Given the description of an element on the screen output the (x, y) to click on. 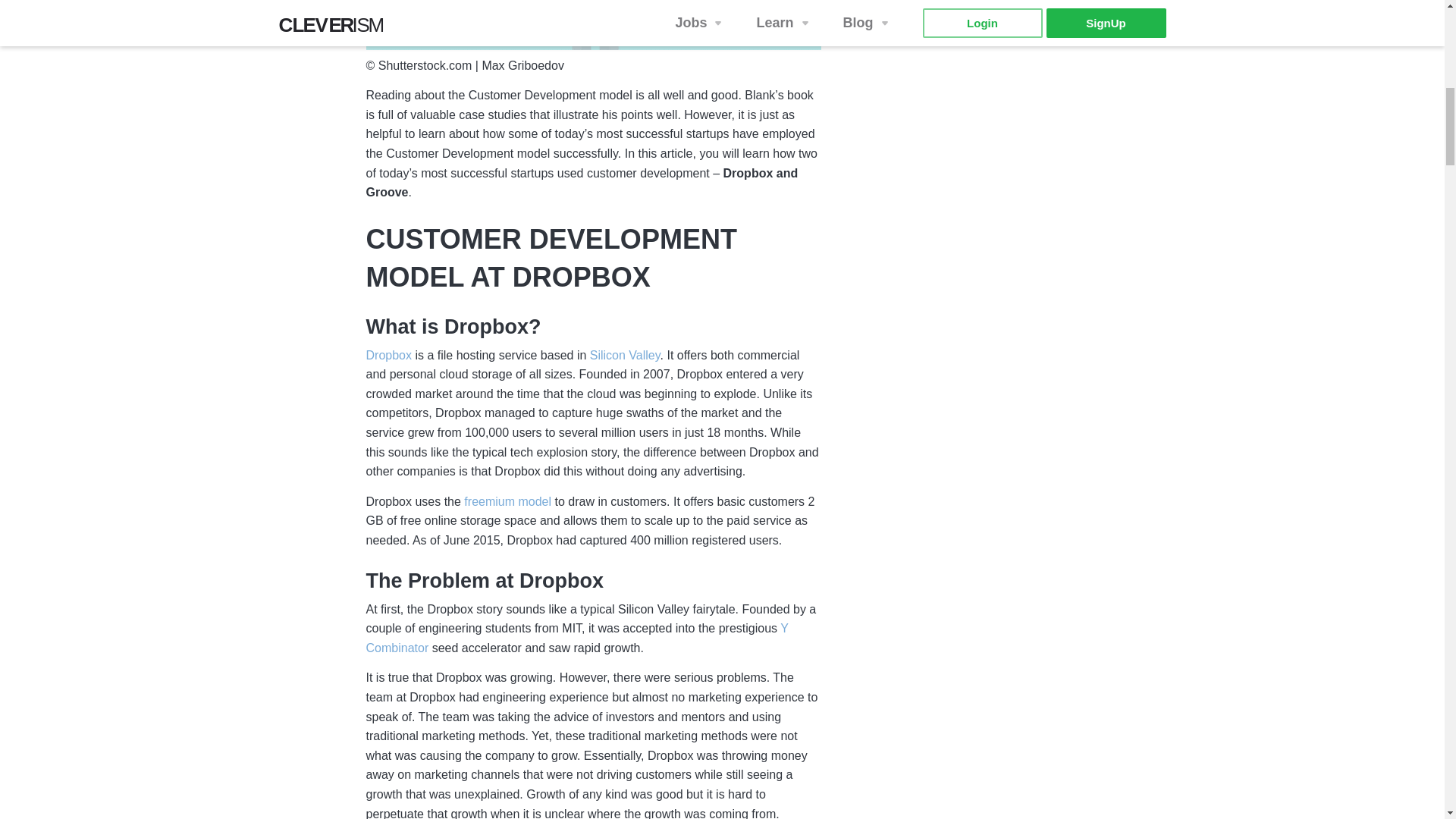
Customer Development Case Studies (593, 24)
Y Combinator (576, 638)
Silicon Valley (625, 355)
Dropbox (387, 355)
freemium model (507, 502)
